Given the description of an element on the screen output the (x, y) to click on. 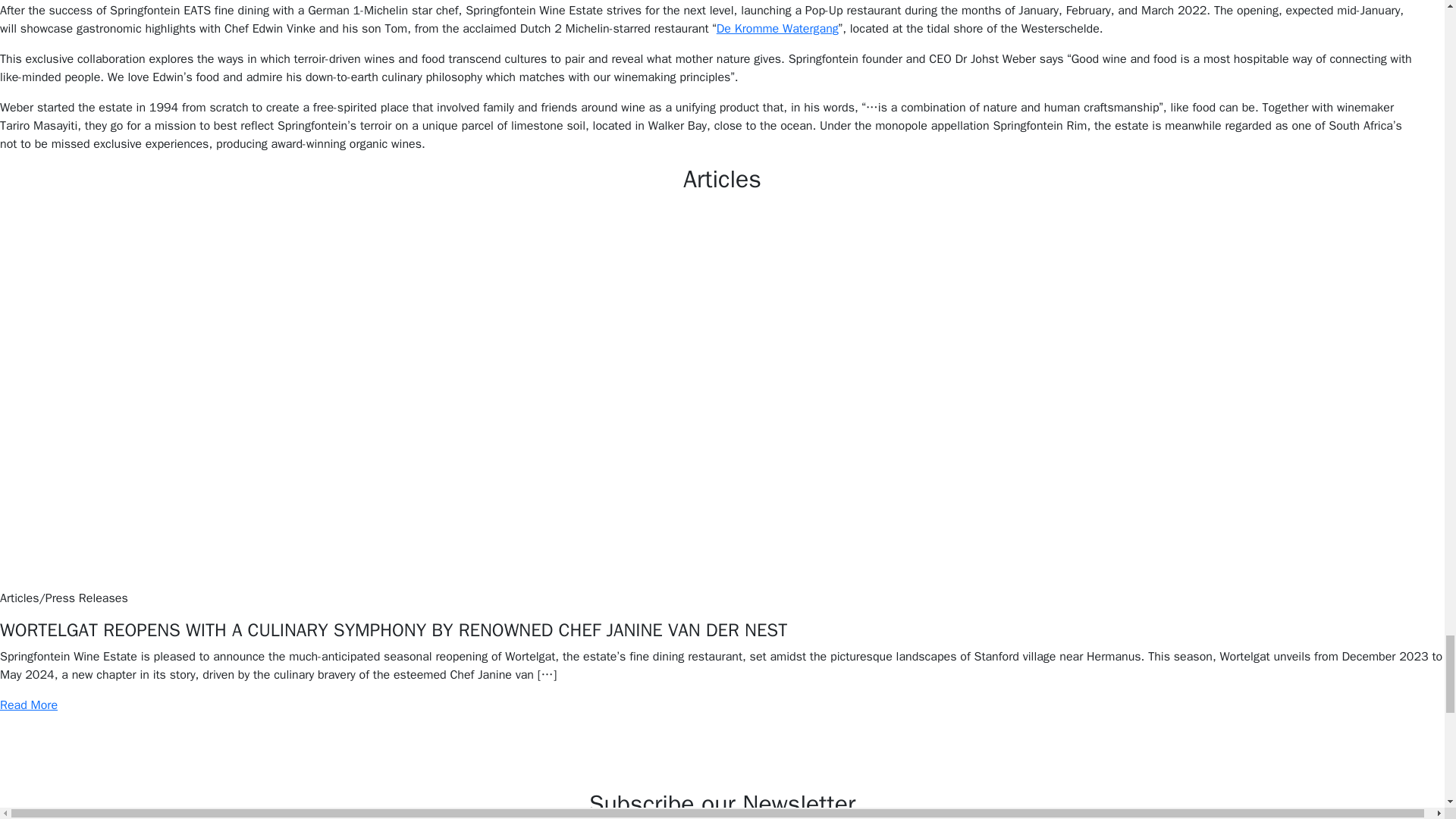
De Kromme Watergang (777, 28)
Read More (29, 704)
